Given the description of an element on the screen output the (x, y) to click on. 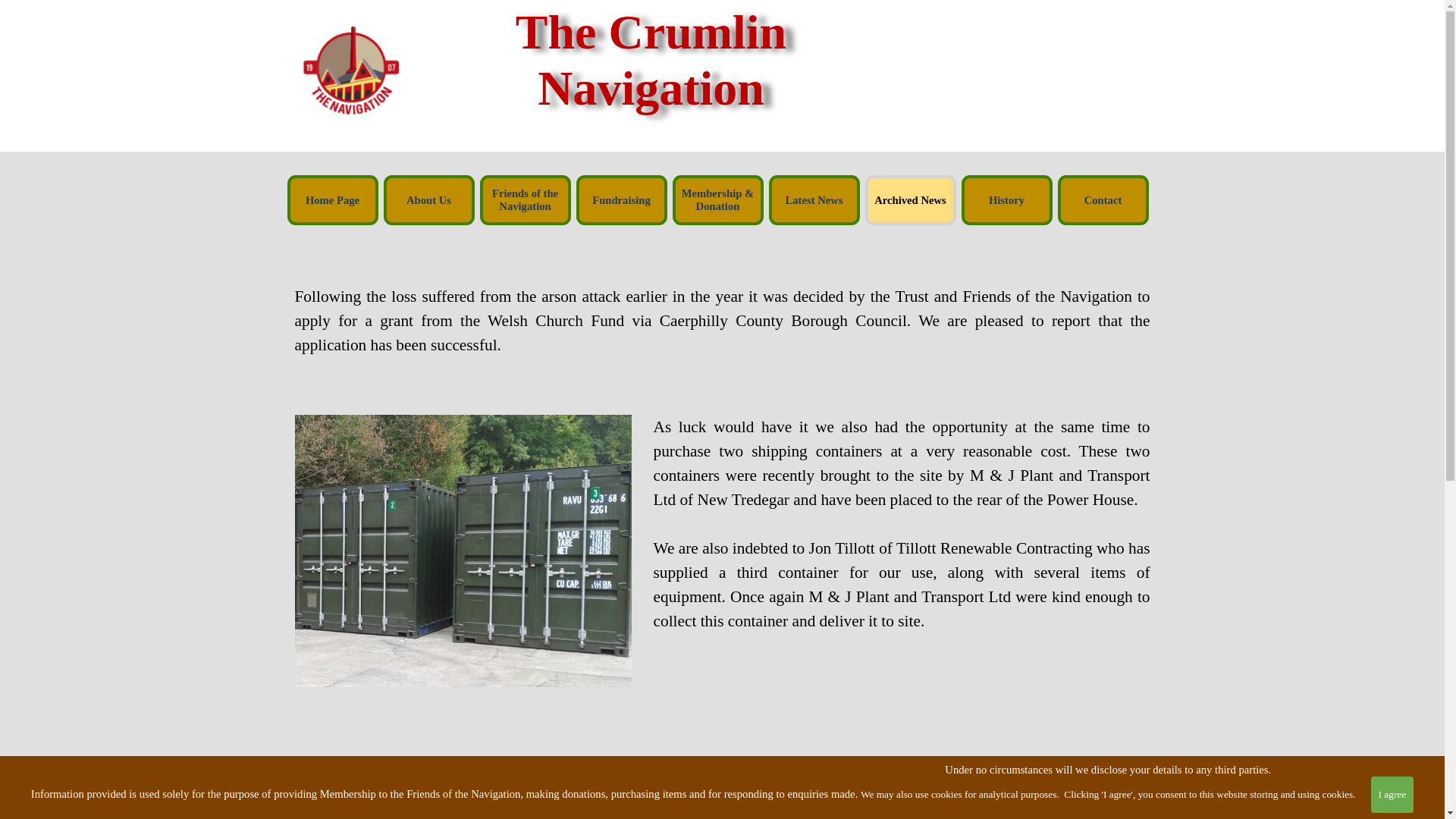
Home Page (332, 199)
New Containers (462, 550)
Logo (350, 68)
